Given the description of an element on the screen output the (x, y) to click on. 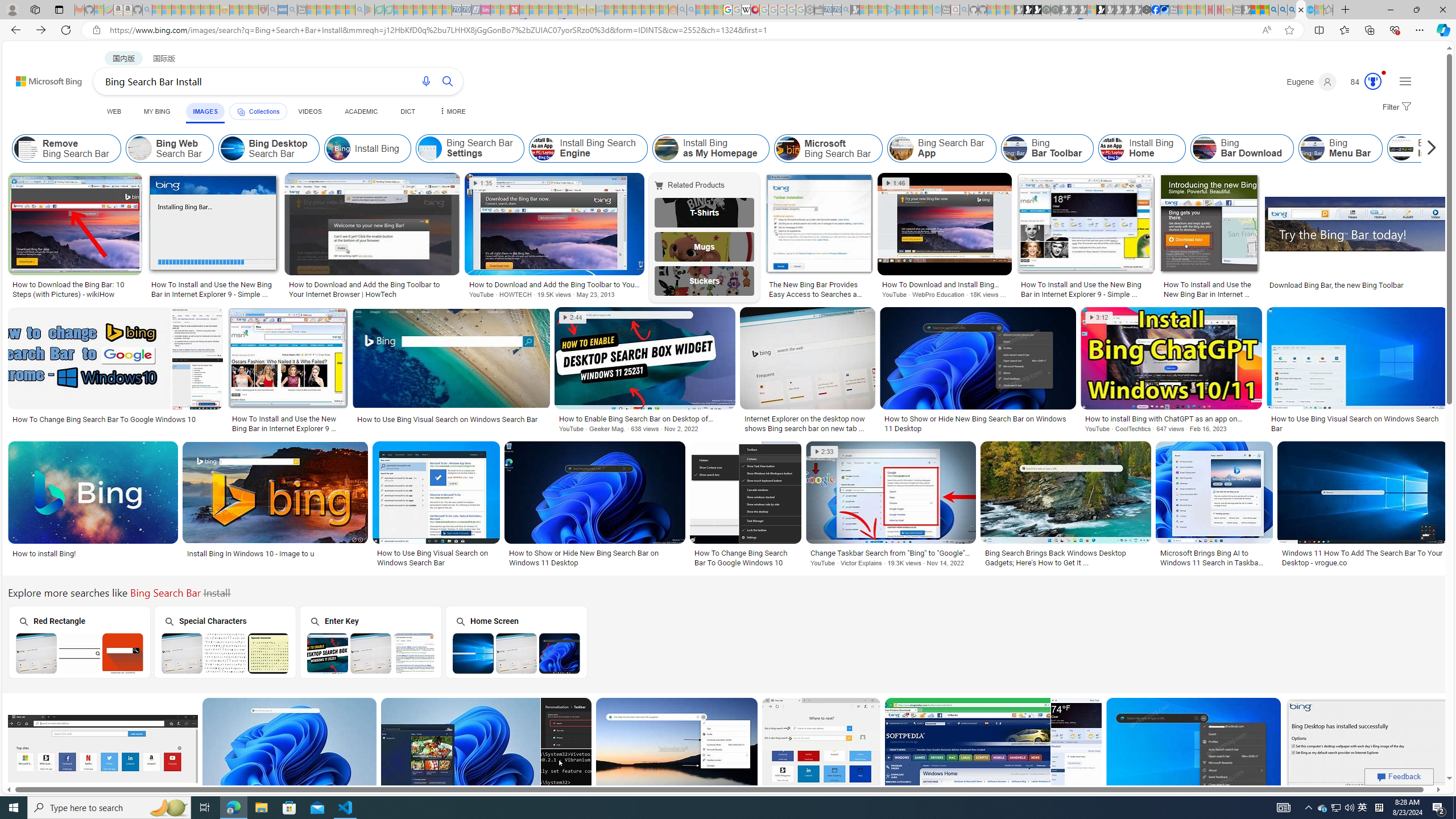
DICT (407, 111)
Install Bing as My Homepage (710, 148)
Bing Search Bar Install - Search Images (1300, 9)
